Given the description of an element on the screen output the (x, y) to click on. 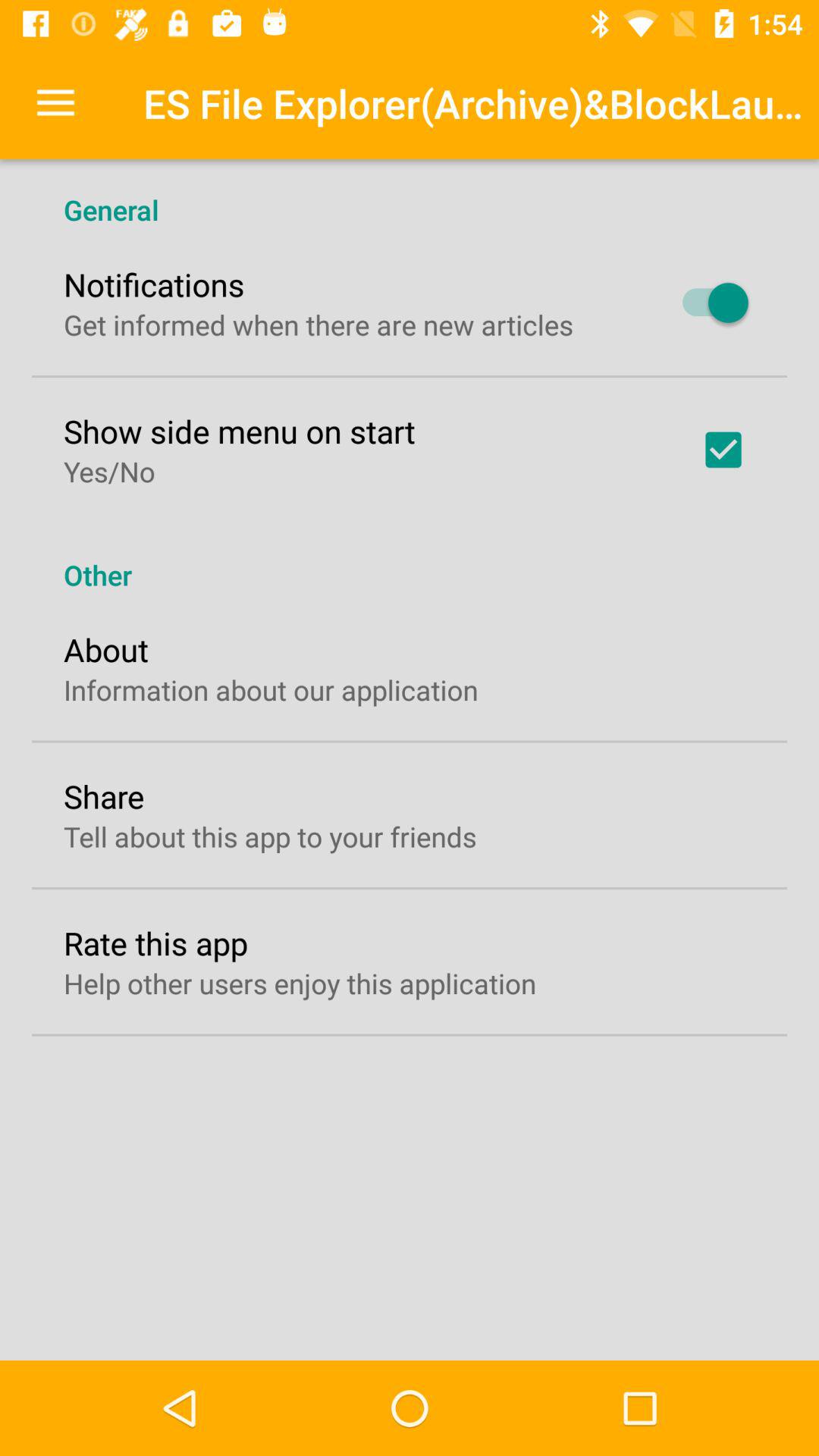
jump until show side menu icon (239, 430)
